Given the description of an element on the screen output the (x, y) to click on. 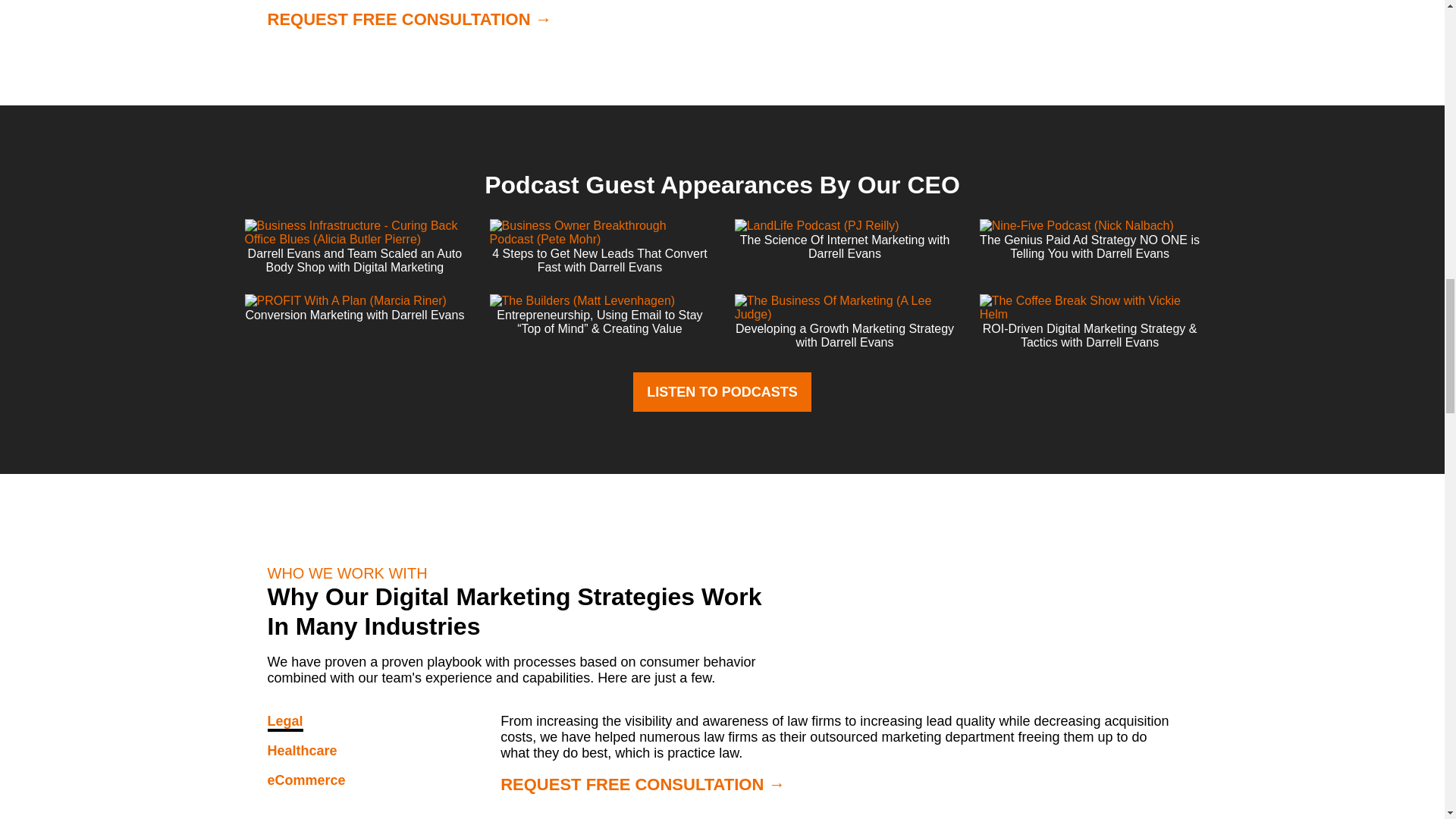
The Coffee Break Show with Vickie Helm (1089, 307)
